Given the description of an element on the screen output the (x, y) to click on. 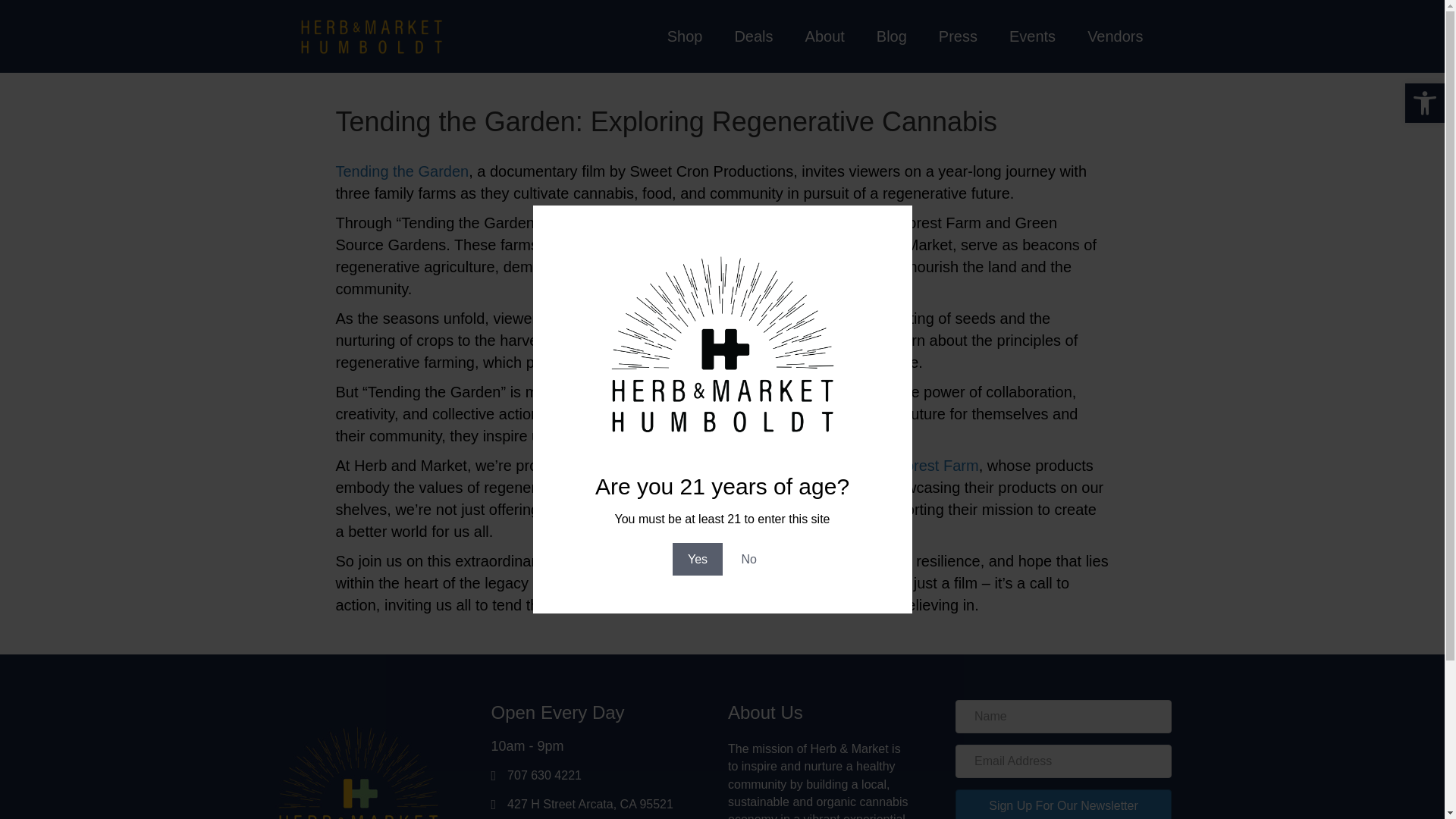
No (748, 558)
Briceland Forest Farm (903, 465)
Vendors (1115, 36)
Radicle Herbs (747, 465)
Events (1031, 36)
Press (958, 36)
About (824, 36)
Blog (891, 36)
Deals (753, 36)
Shop (684, 36)
Accessibility Tools (1424, 102)
Sign Up For Our Newsletter (1063, 804)
Tending the Garden (401, 170)
707 630 4221 (543, 774)
Yes (697, 558)
